Given the description of an element on the screen output the (x, y) to click on. 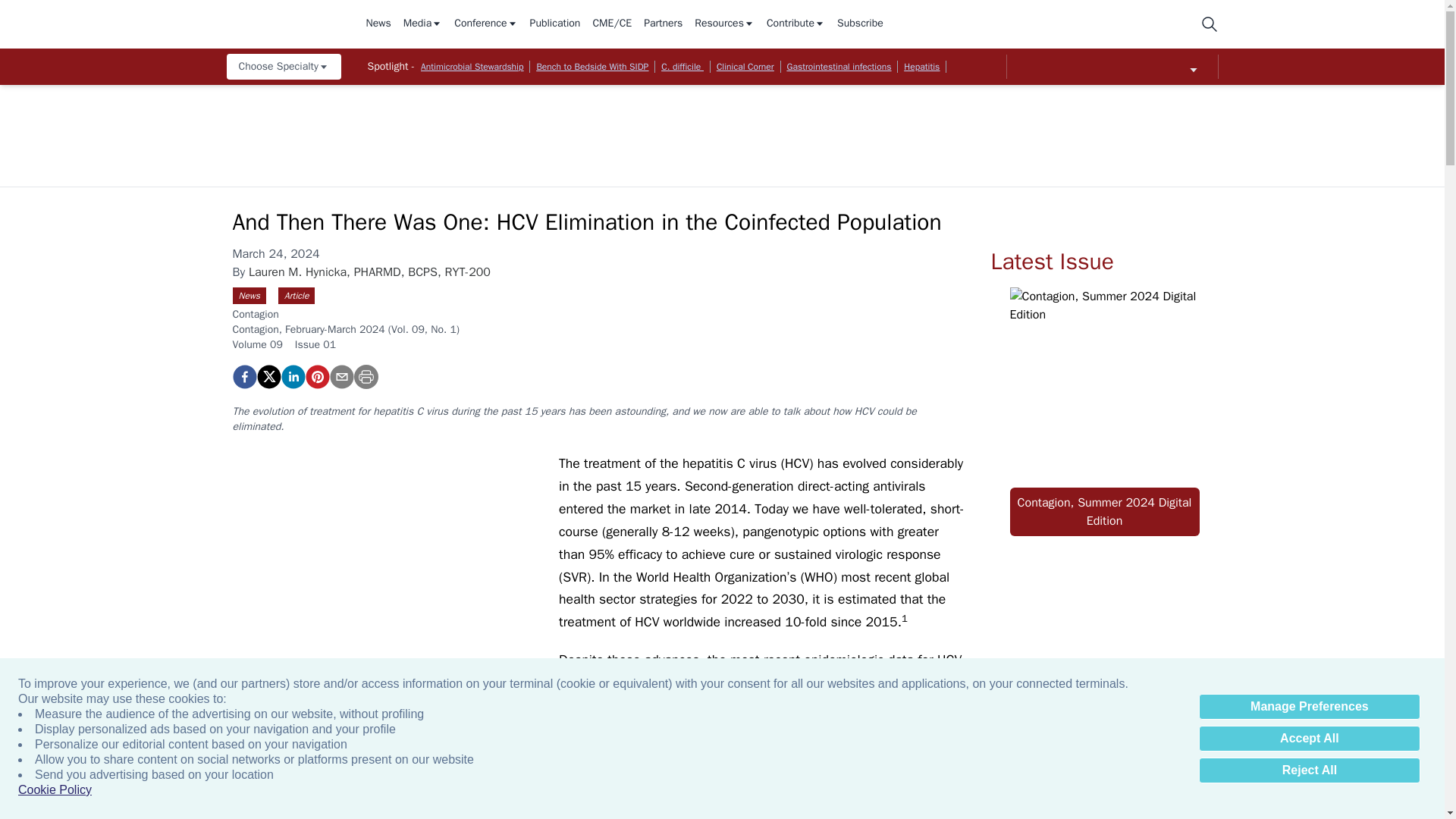
Reject All (1309, 769)
Resources (724, 23)
Contribute (796, 23)
News (377, 23)
Subscribe (860, 23)
Accept All (1309, 738)
Conference (485, 23)
Cookie Policy (54, 789)
Publication (554, 23)
